Given the description of an element on the screen output the (x, y) to click on. 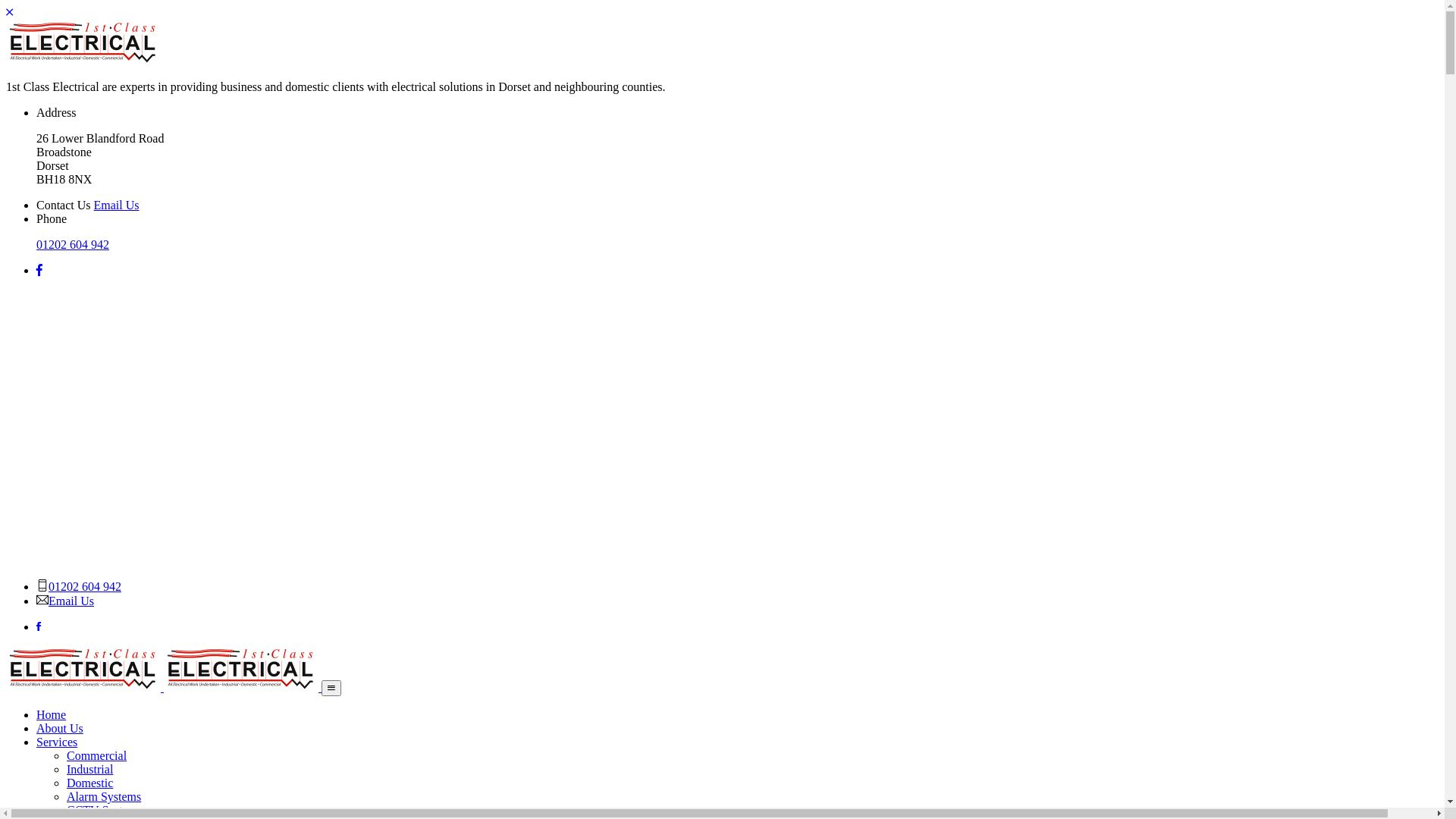
About Us Element type: text (59, 727)
Industrial Element type: text (89, 768)
CCTV Systems Element type: text (104, 809)
Email Us Element type: text (116, 204)
Services Element type: text (56, 741)
Alarm Systems Element type: text (103, 796)
01202 604 942 Element type: text (72, 244)
Email Us Element type: text (71, 600)
01202 604 942 Element type: text (84, 586)
Commercial Element type: text (96, 755)
Home Element type: text (50, 714)
Domestic Element type: text (89, 782)
